Given the description of an element on the screen output the (x, y) to click on. 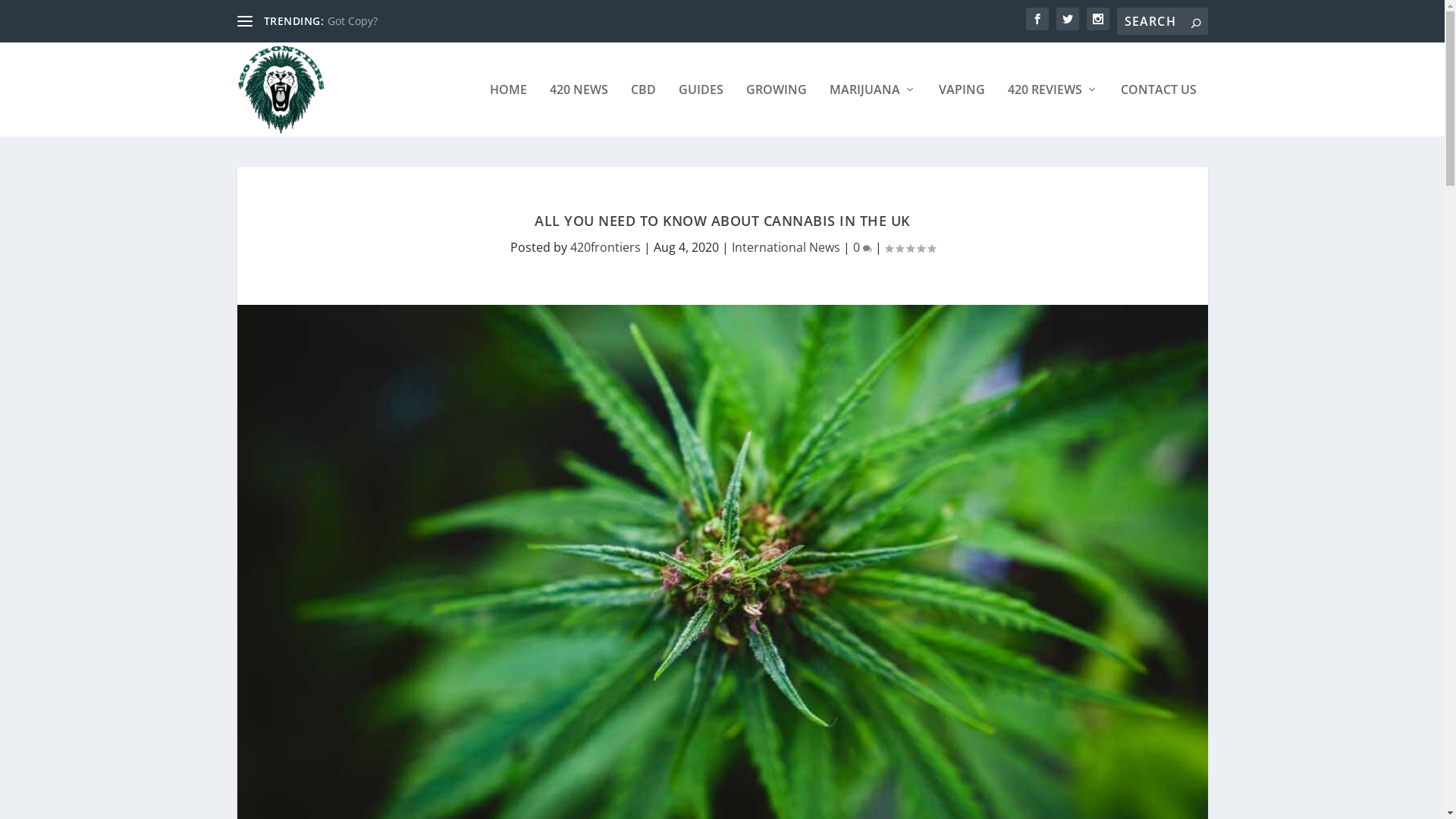
CONTACT US Element type: text (1158, 109)
VAPING Element type: text (961, 109)
Search for: Element type: hover (1161, 20)
0 Element type: text (861, 246)
CBD Element type: text (642, 109)
420frontiers Element type: text (605, 246)
420 REVIEWS Element type: text (1052, 109)
MARIJUANA Element type: text (872, 109)
HOME Element type: text (508, 109)
GUIDES Element type: text (699, 109)
International News Element type: text (785, 246)
Got Copy? Element type: text (352, 20)
420 NEWS Element type: text (578, 109)
GROWING Element type: text (776, 109)
Rating: 0.00 Element type: hover (909, 247)
comment count Element type: hover (867, 248)
